Given the description of an element on the screen output the (x, y) to click on. 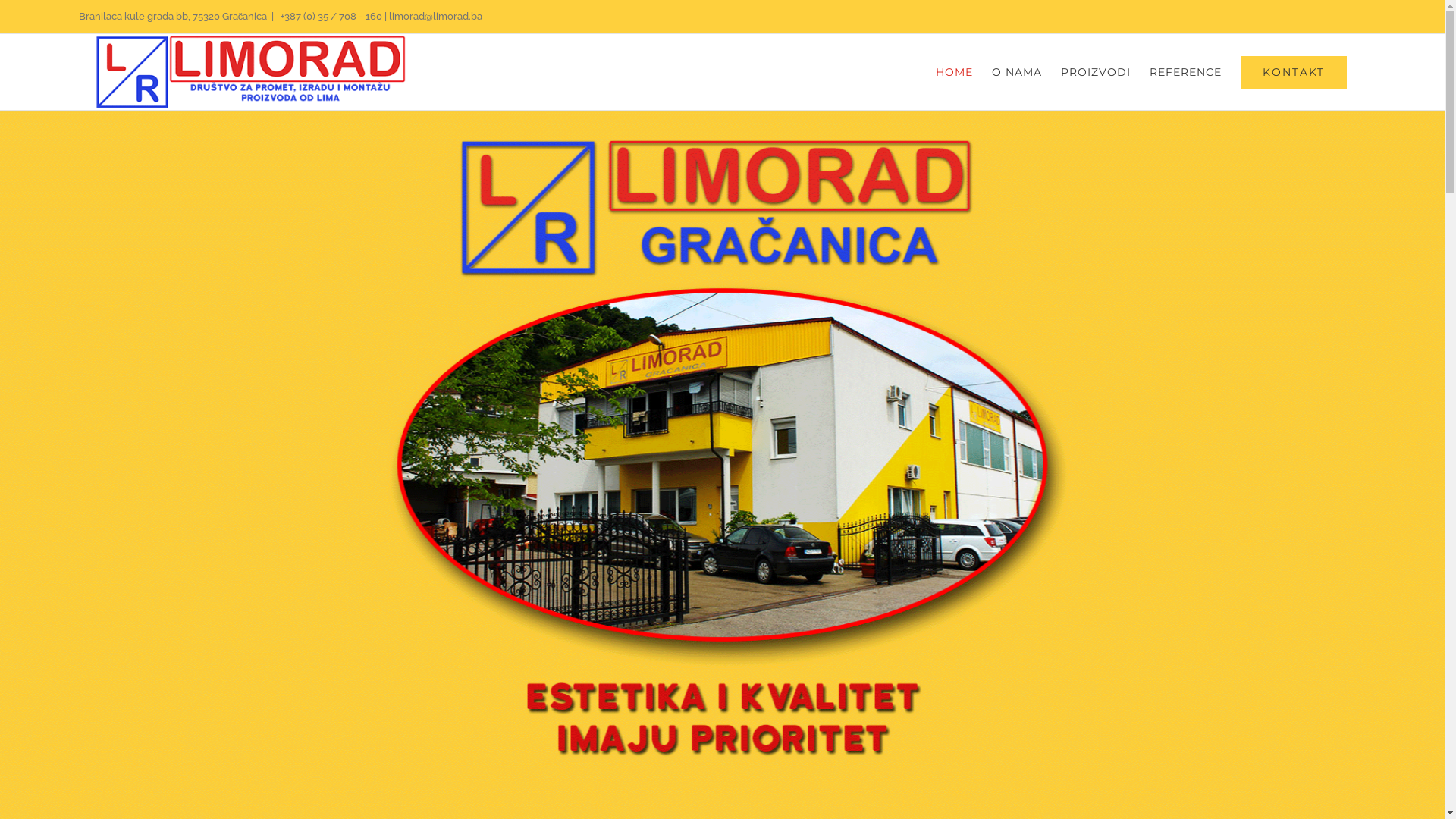
HOME Element type: text (953, 71)
REFERENCE Element type: text (1185, 71)
KONTAKT Element type: text (1293, 71)
+387 (0) 35 / 708 - 160 | limorad@limorad.ba Element type: text (380, 15)
PROIZVODI Element type: text (1095, 71)
O NAMA Element type: text (1016, 71)
